Given the description of an element on the screen output the (x, y) to click on. 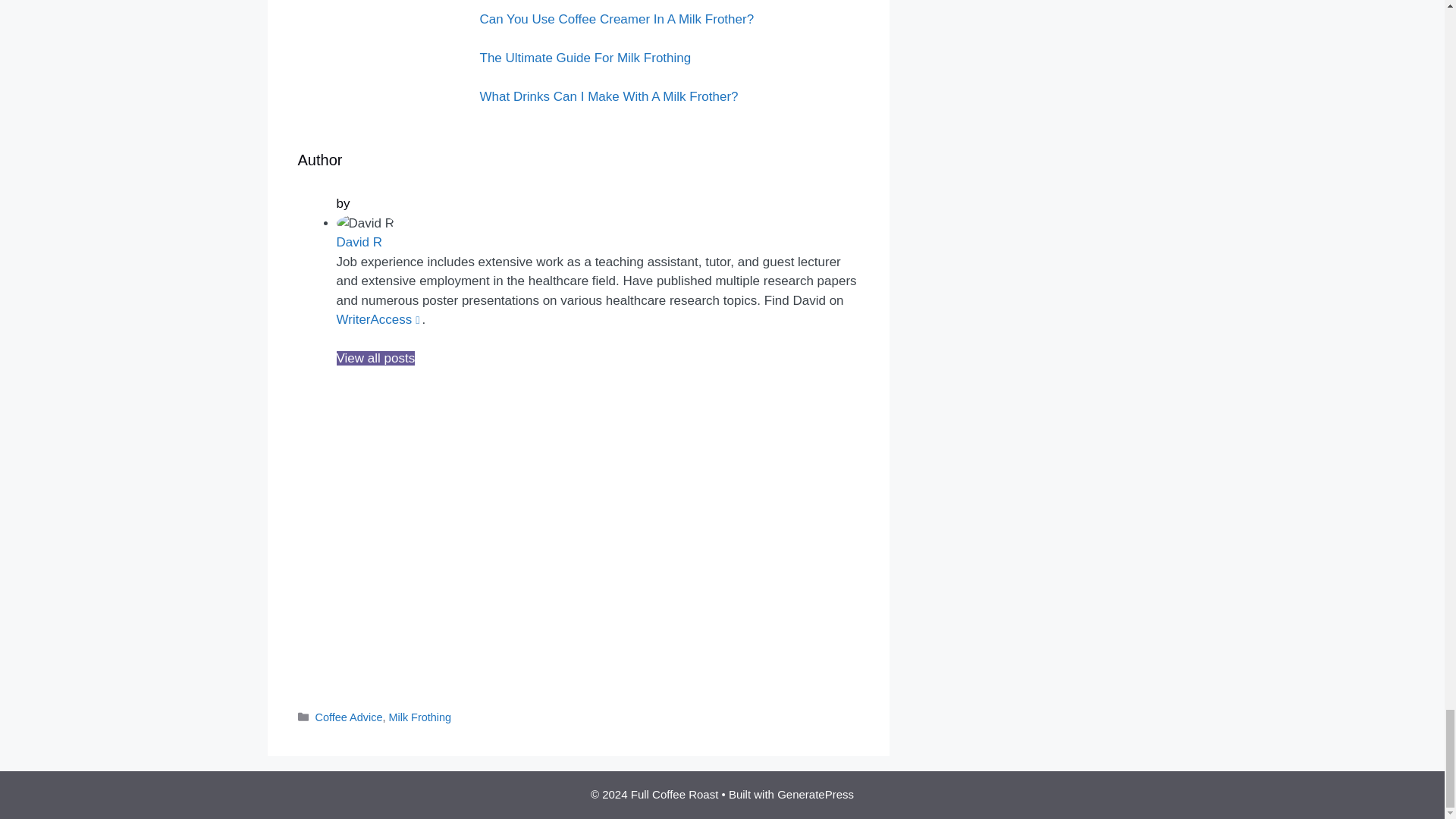
David R (358, 242)
View all posts (375, 358)
